Given the description of an element on the screen output the (x, y) to click on. 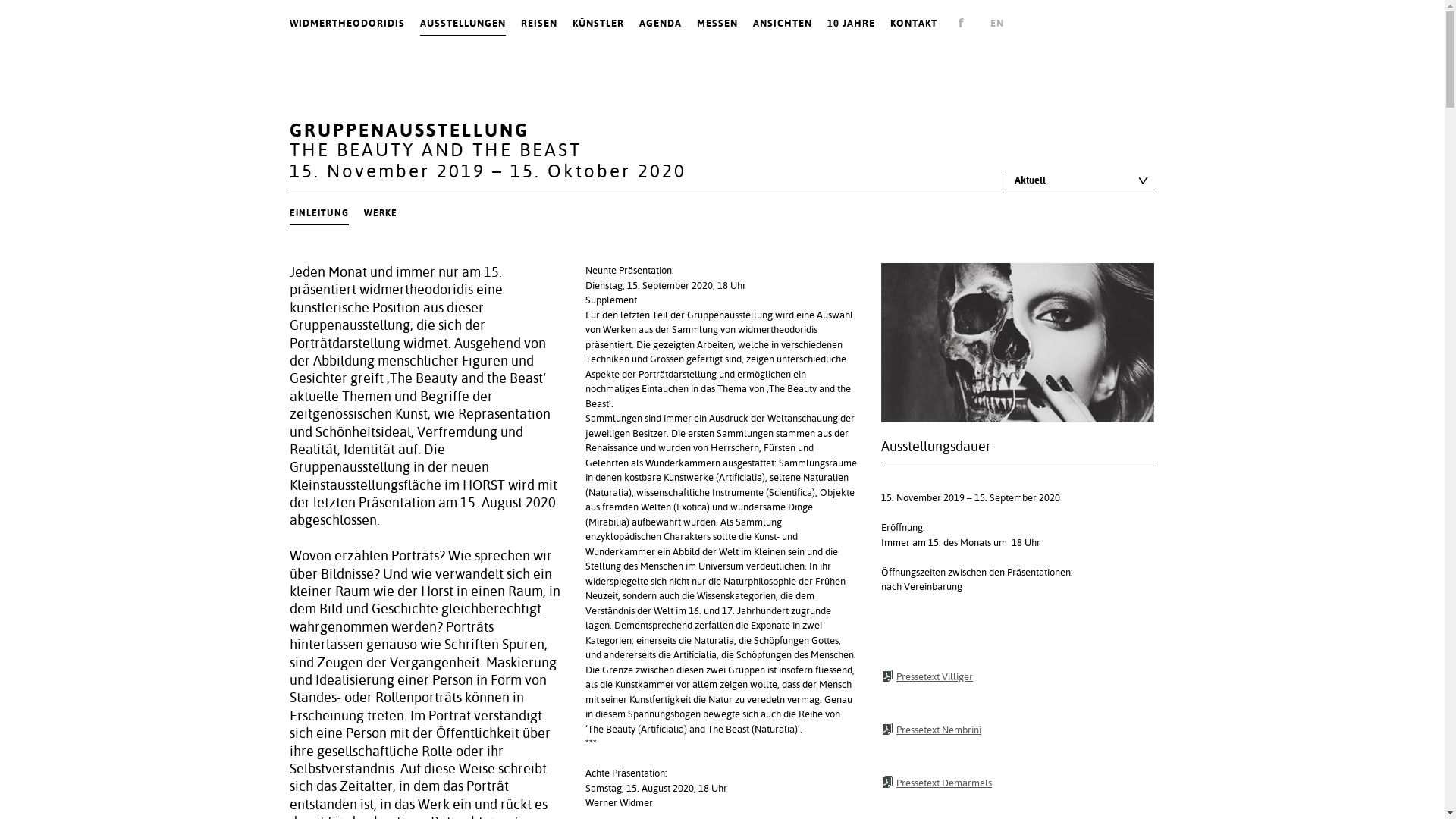
EINLEITUNG Element type: text (318, 213)
EN Element type: text (997, 23)
10 JAHRE Element type: text (851, 23)
MESSEN Element type: text (716, 23)
KONTAKT Element type: text (913, 23)
REISEN Element type: text (538, 23)
WIDMERTHEODORIDIS Element type: text (346, 23)
Pressetext Demarmels Element type: text (1017, 782)
AUSSTELLUNGEN Element type: text (462, 23)
Aktuell Element type: text (1078, 179)
Pressetext Nembrini Element type: text (1017, 729)
Pressetext Villiger Element type: text (1017, 676)
AGENDA Element type: text (660, 23)
WERKE Element type: text (380, 213)
ANSICHTEN Element type: text (782, 23)
